Given the description of an element on the screen output the (x, y) to click on. 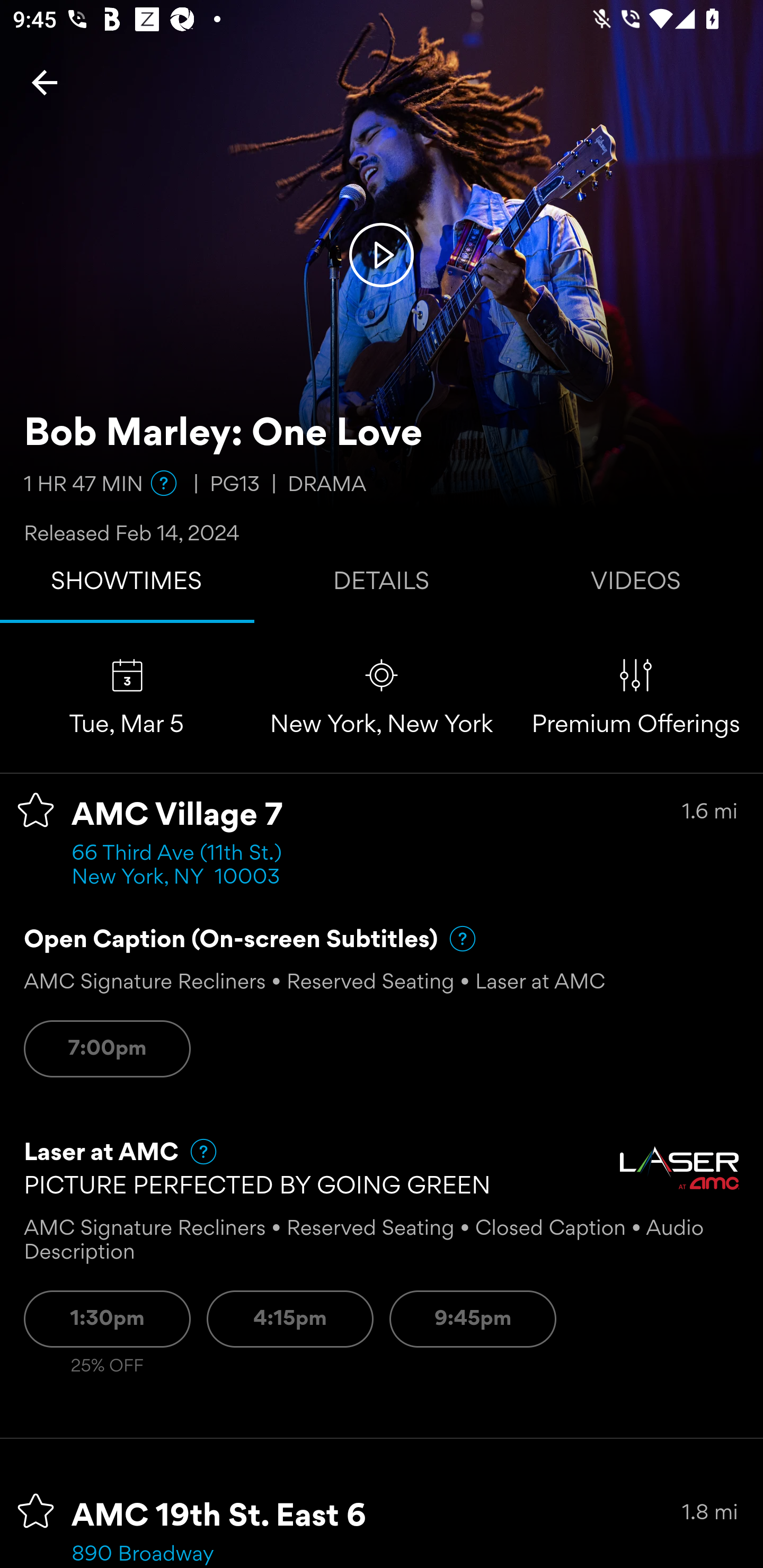
Back (44, 82)
Play (381, 254)
Help (163, 482)
SHOWTIMES
Tab 1 of 3 (127, 584)
DETAILS
Tab 2 of 3 (381, 584)
VIDEOS
Tab 3 of 3 (635, 584)
Change selected day
Tue, Mar 5 (127, 697)
Change location
New York, New York (381, 697)
Premium Offerings
Premium Offerings (635, 697)
AMC Village 7 (177, 816)
66 Third Ave (11th St.)  
New York, NY  10003 (182, 866)
Help (454, 938)
Help (195, 1151)
AMC 19th St. East 6 (219, 1517)
890 Broadway  
New York, NY  10003 (176, 1555)
